Given the description of an element on the screen output the (x, y) to click on. 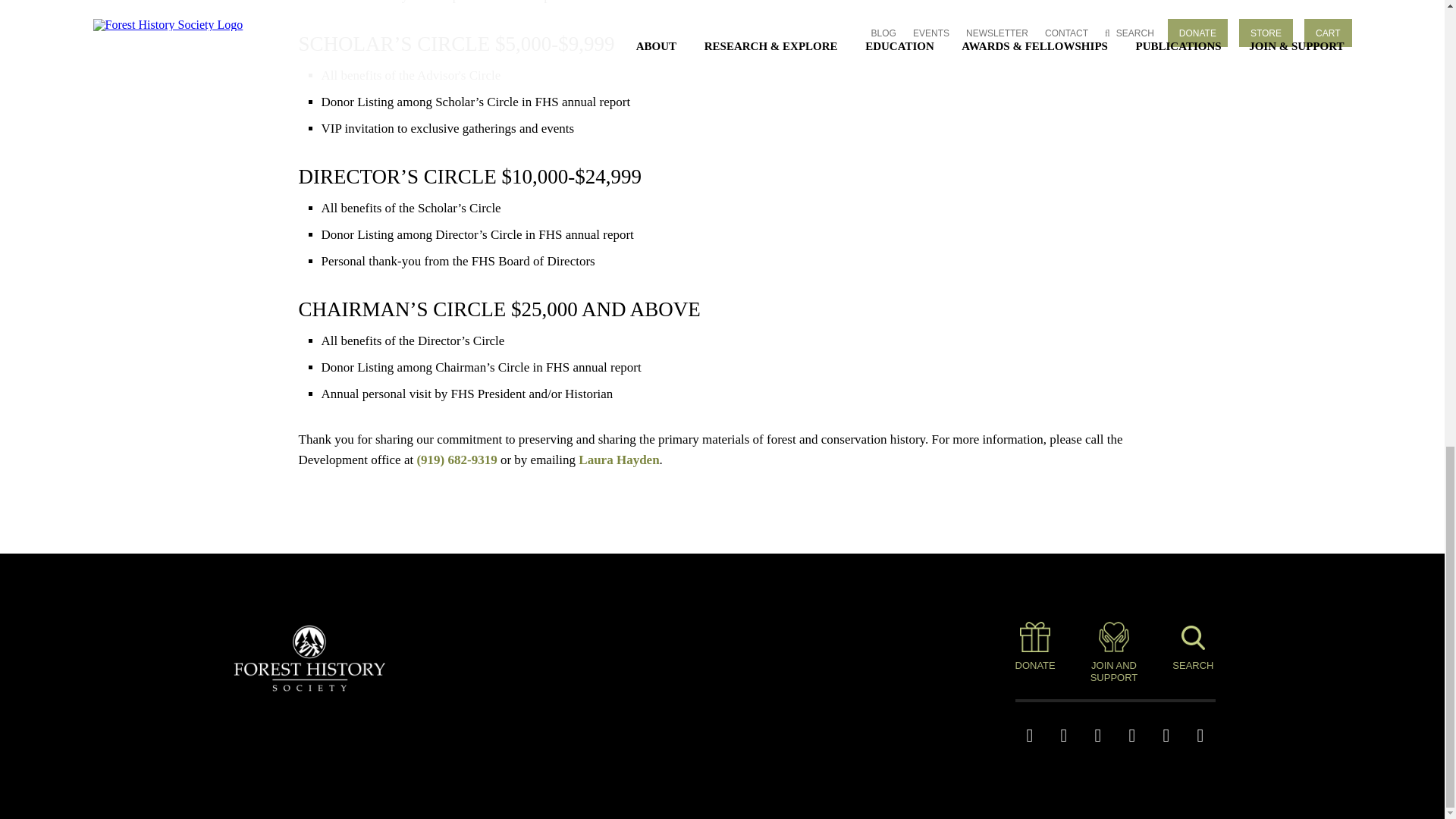
YouTube (1132, 735)
Twitter (1064, 735)
Instagram (1201, 735)
FHS Blog (1029, 735)
Facebook (1097, 735)
Flickr (1166, 735)
